Given the description of an element on the screen output the (x, y) to click on. 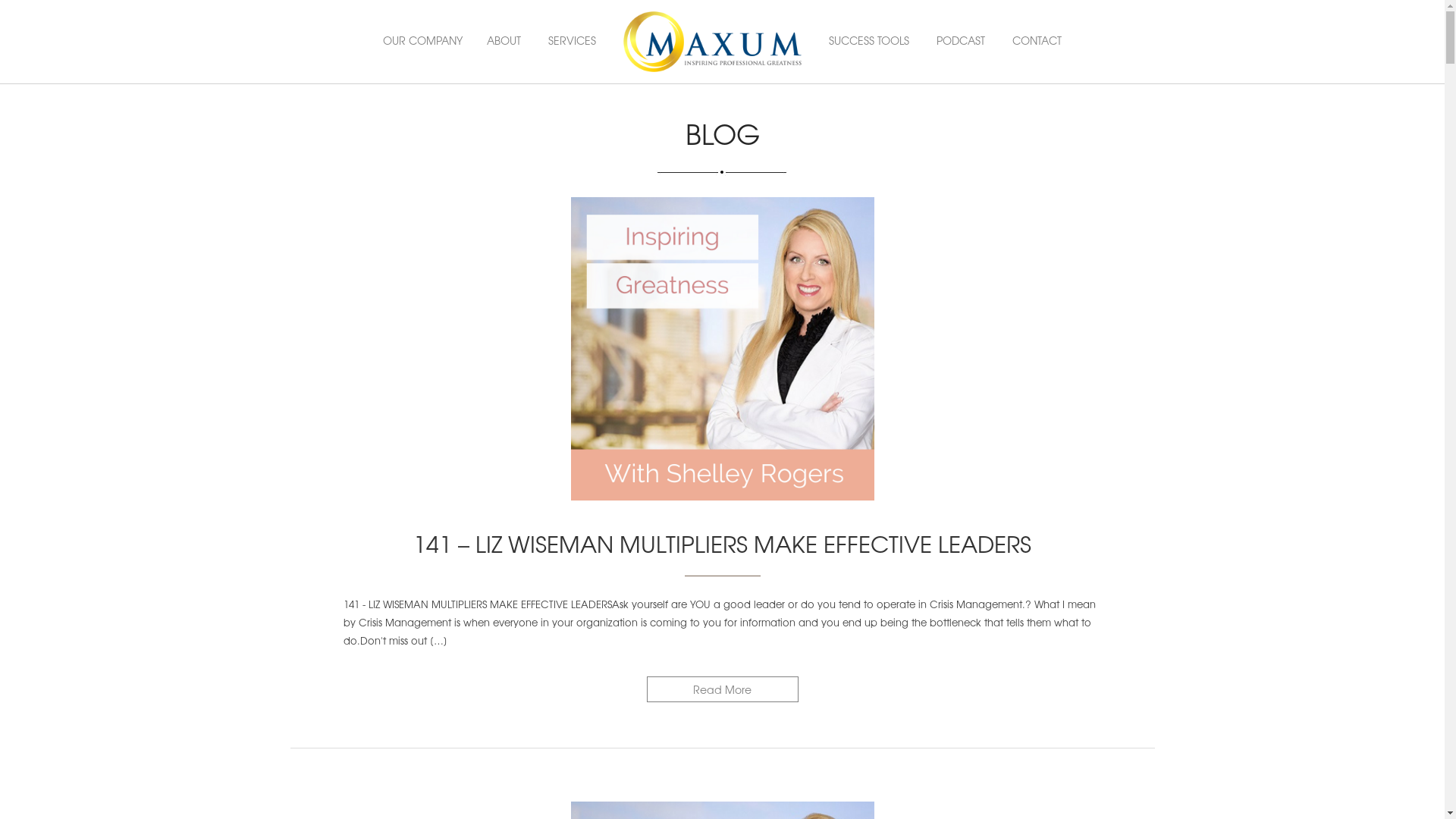
ABOUT Element type: text (503, 39)
CONTACT Element type: text (1036, 39)
SERVICES Element type: text (572, 39)
PODCAST Element type: text (960, 39)
OUR COMPANY Element type: text (422, 39)
SUCCESS TOOLS Element type: text (868, 39)
Read More Element type: text (721, 689)
